Given the description of an element on the screen output the (x, y) to click on. 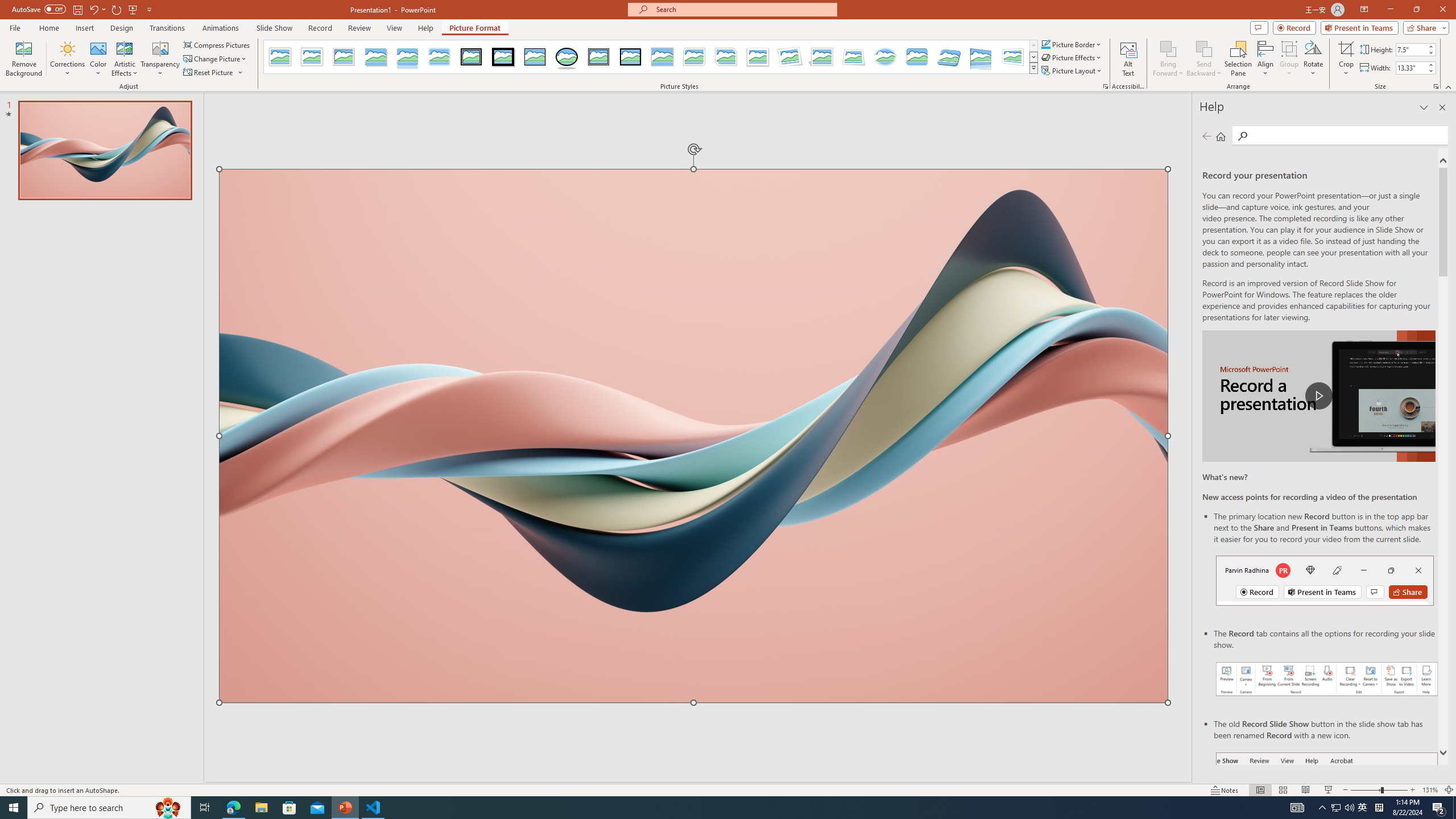
Zoom Out (1365, 790)
Slide Show (1328, 790)
Row up (1033, 45)
Row Down (1033, 56)
Corrections (67, 58)
Close pane (1441, 107)
Size and Position... (1435, 85)
Crop (1345, 58)
Quick Access Toolbar (82, 9)
Transitions (167, 28)
Help (425, 28)
Undo (96, 9)
Reading View (1305, 790)
Compress Pictures... (217, 44)
File Tab (15, 27)
